Given the description of an element on the screen output the (x, y) to click on. 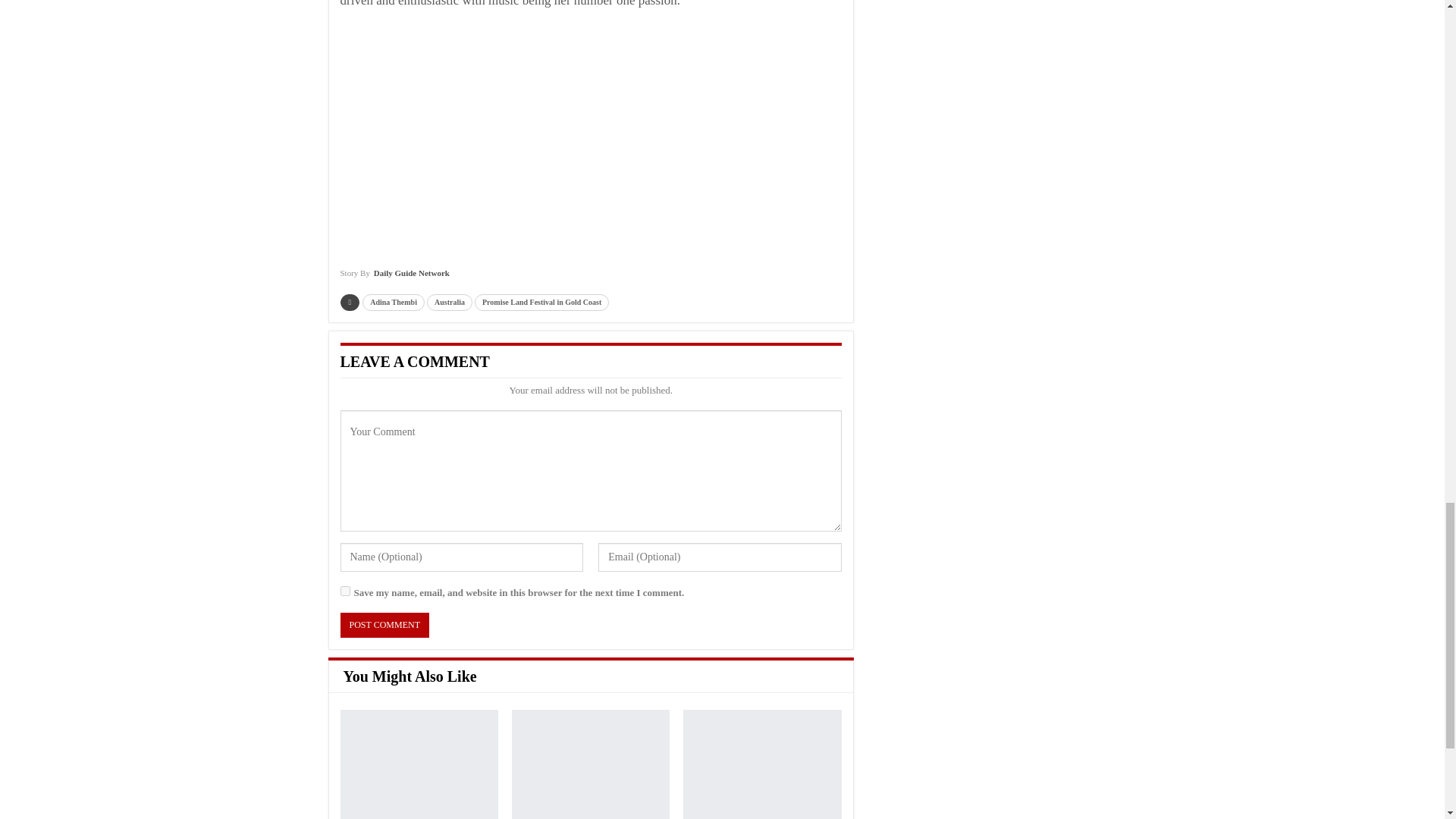
Adina Thembi (393, 302)
Post Comment (383, 625)
Browse Author Articles (393, 278)
Promise Land Festival in Gold Coast (541, 302)
Australia (448, 302)
Post Comment (383, 625)
Story By Daily Guide Network (393, 278)
yes (344, 591)
